Given the description of an element on the screen output the (x, y) to click on. 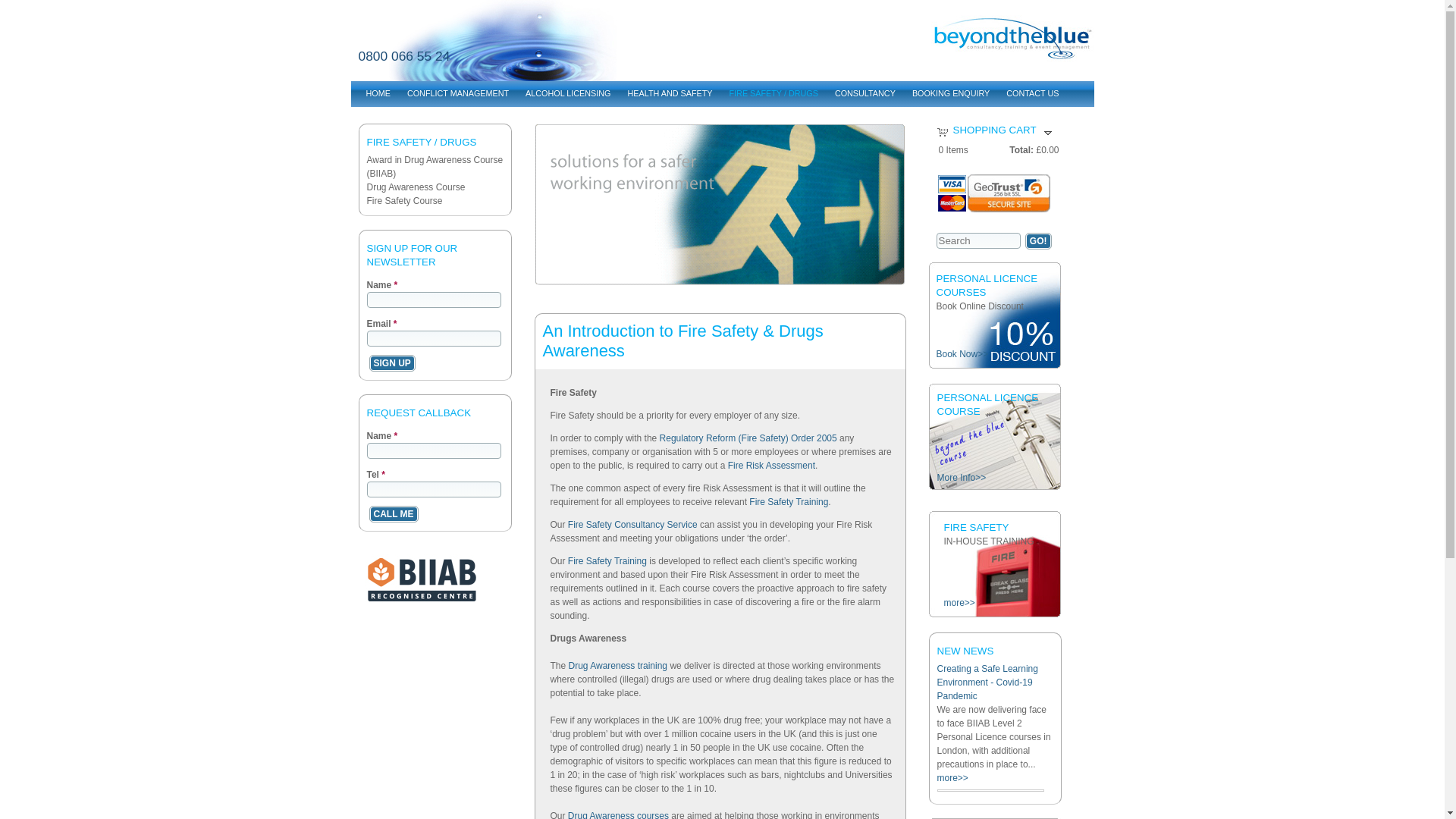
Creating a Safe Learning Environment - Covid-19 Pandemic (987, 682)
CONSULTANCY (864, 92)
Fire Safety Course (404, 200)
CONFLICT MANAGEMENT (456, 92)
Drug Awareness training (618, 665)
Drug Awareness courses (617, 814)
HOME (377, 92)
Enter the terms you wish to search for. (978, 240)
CONTACT US (1031, 92)
HEALTH AND SAFETY (668, 92)
GO! (1038, 240)
ALCOHOL LICENSING (566, 92)
Sign Up (391, 363)
Sign Up (391, 363)
Fire Safety Training (606, 561)
